Given the description of an element on the screen output the (x, y) to click on. 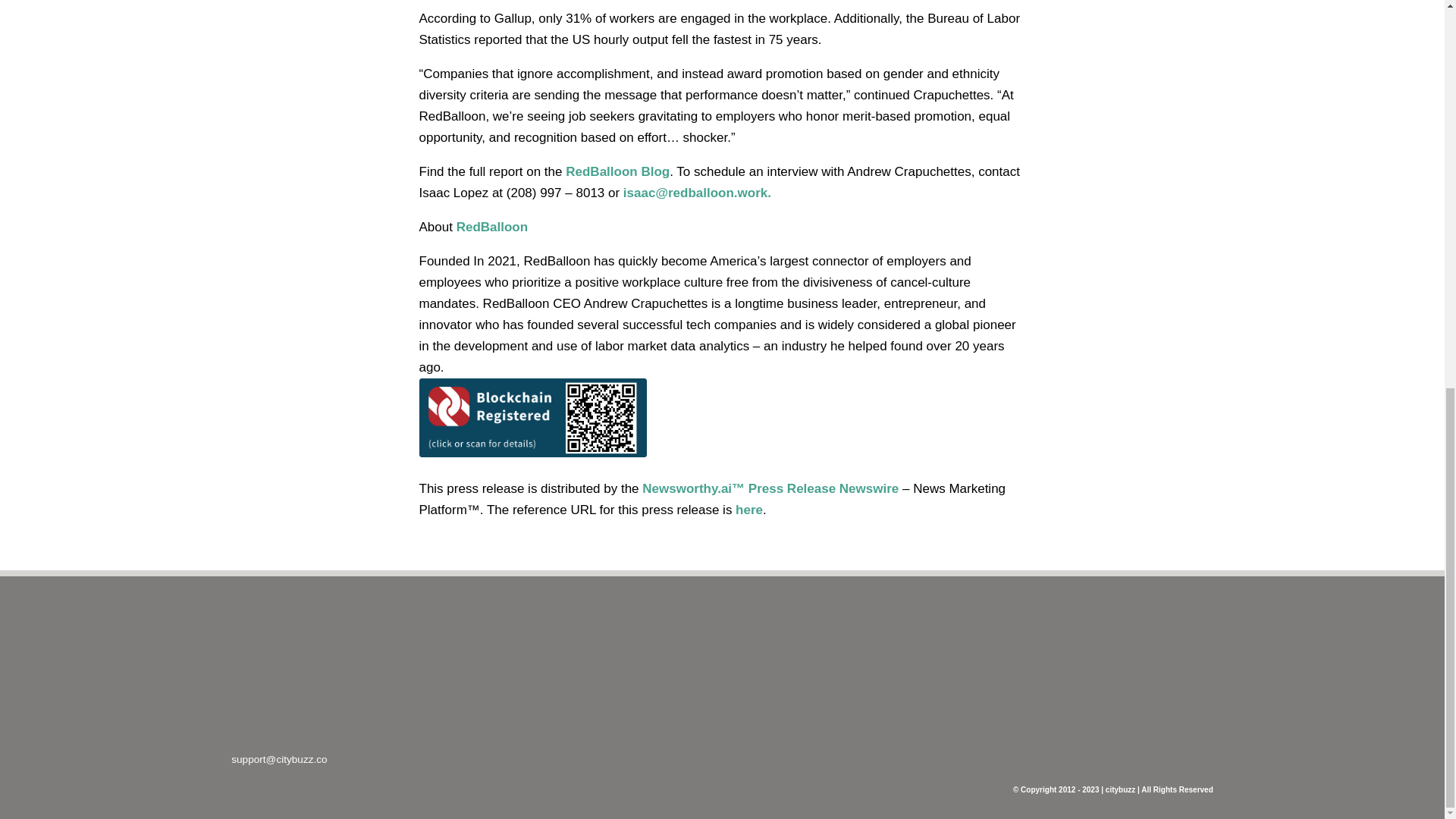
RedBalloon Blog (617, 171)
RedBalloon (492, 227)
here (748, 509)
